Given the description of an element on the screen output the (x, y) to click on. 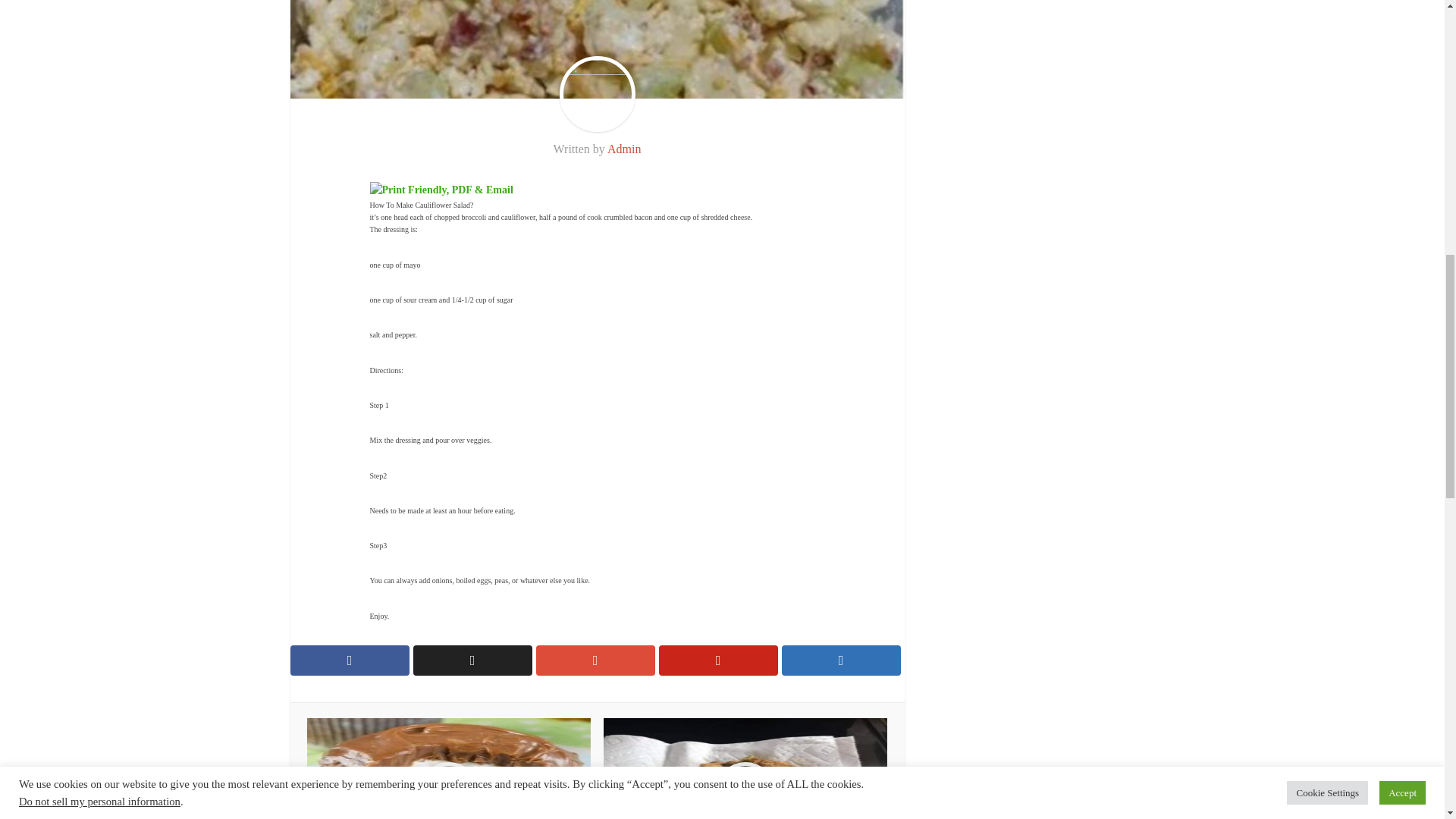
Air Fryer Fried Okra (745, 768)
Admin (623, 148)
